Given the description of an element on the screen output the (x, y) to click on. 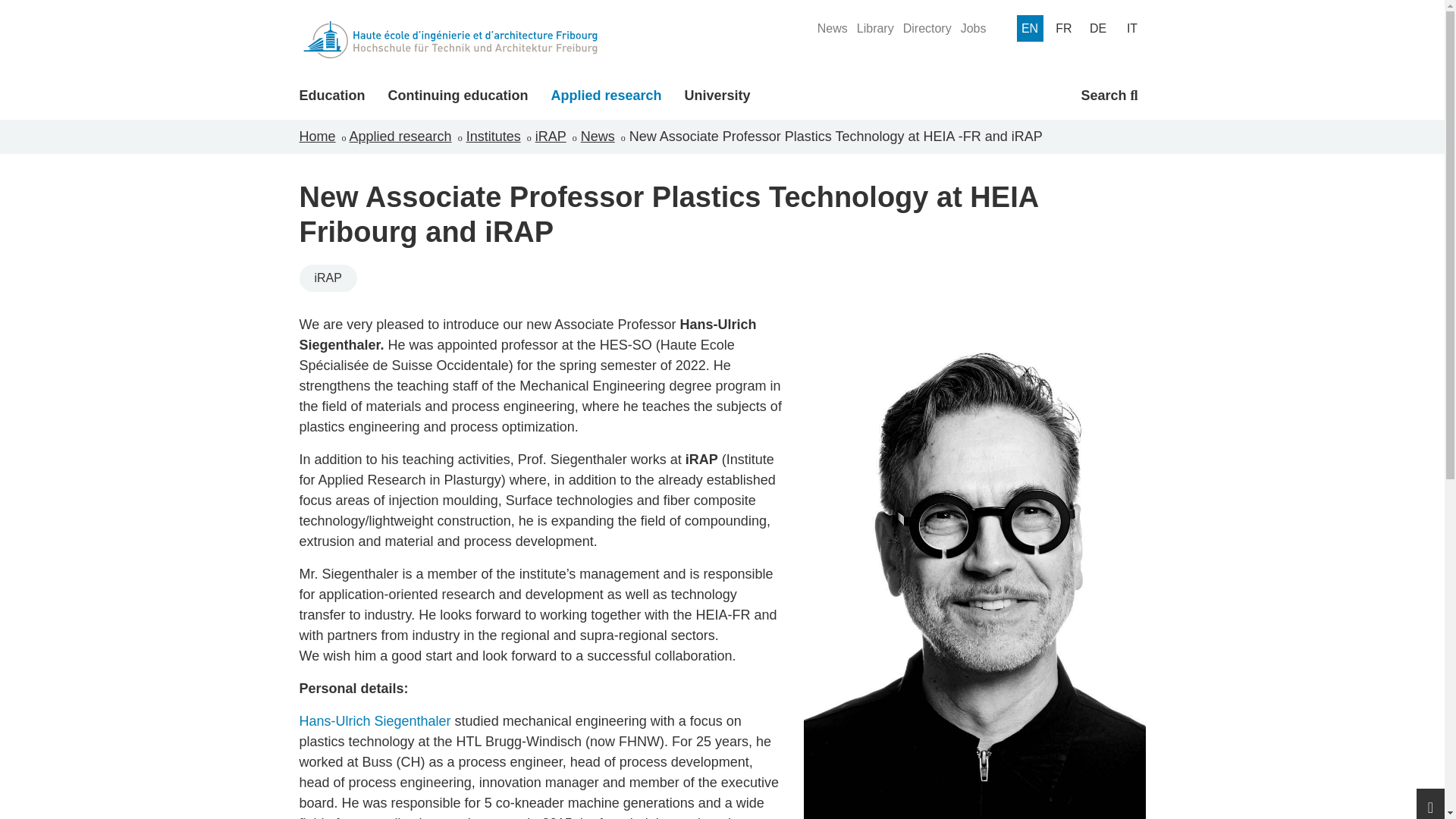
en (1029, 28)
Education (331, 95)
DE (1097, 28)
it (1132, 28)
Search (1108, 95)
IT (1132, 28)
Applied research (605, 95)
EN (1029, 28)
Applied research (605, 95)
Education (331, 95)
HEIA-FR (448, 39)
de (1097, 28)
Hans-Ulrich Siegenthaler (373, 720)
News (831, 27)
Continuing education (458, 95)
